Given the description of an element on the screen output the (x, y) to click on. 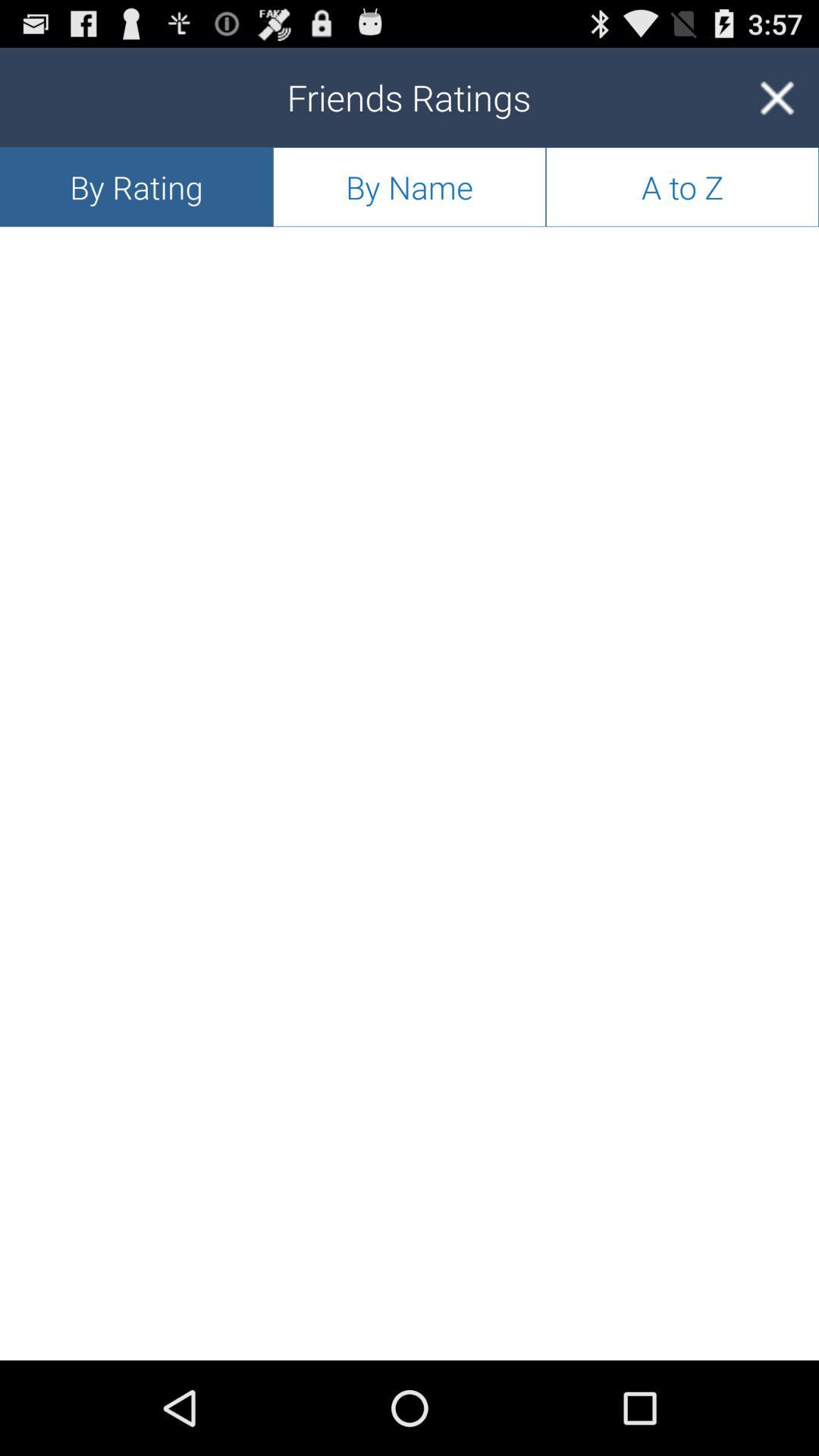
choose app to the right of by rating item (409, 186)
